Given the description of an element on the screen output the (x, y) to click on. 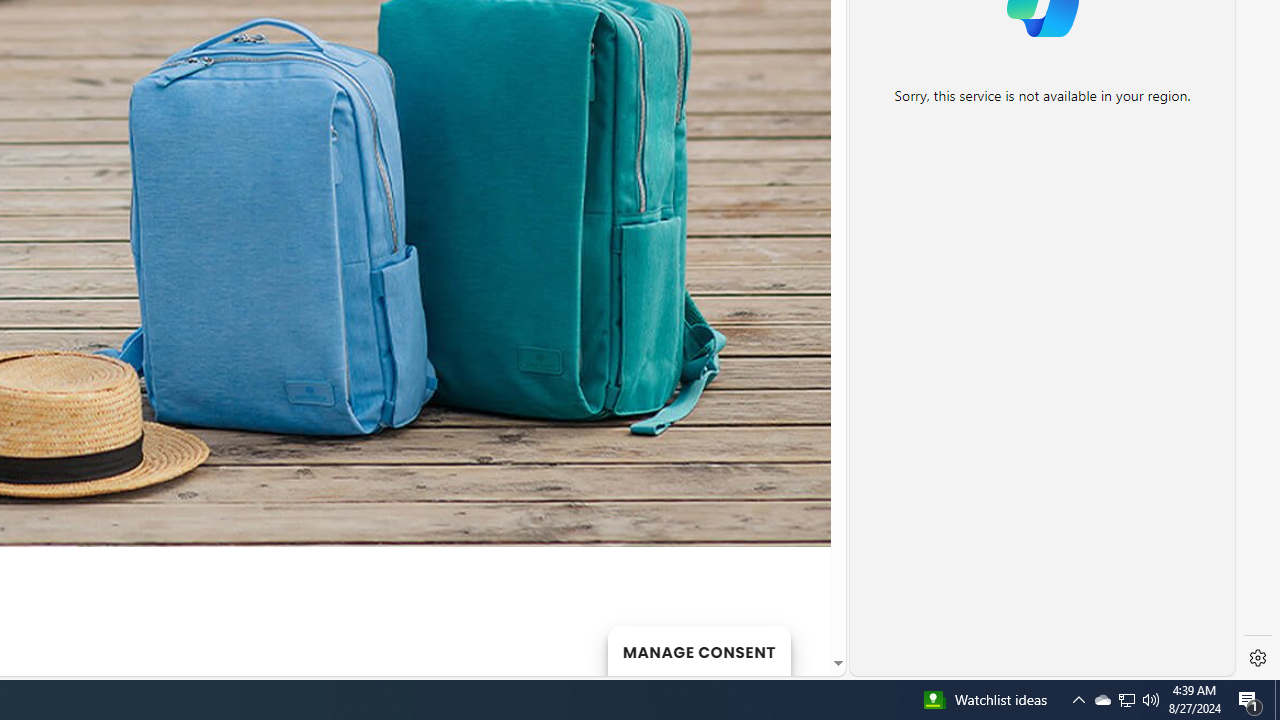
MANAGE CONSENT (698, 650)
